Given the description of an element on the screen output the (x, y) to click on. 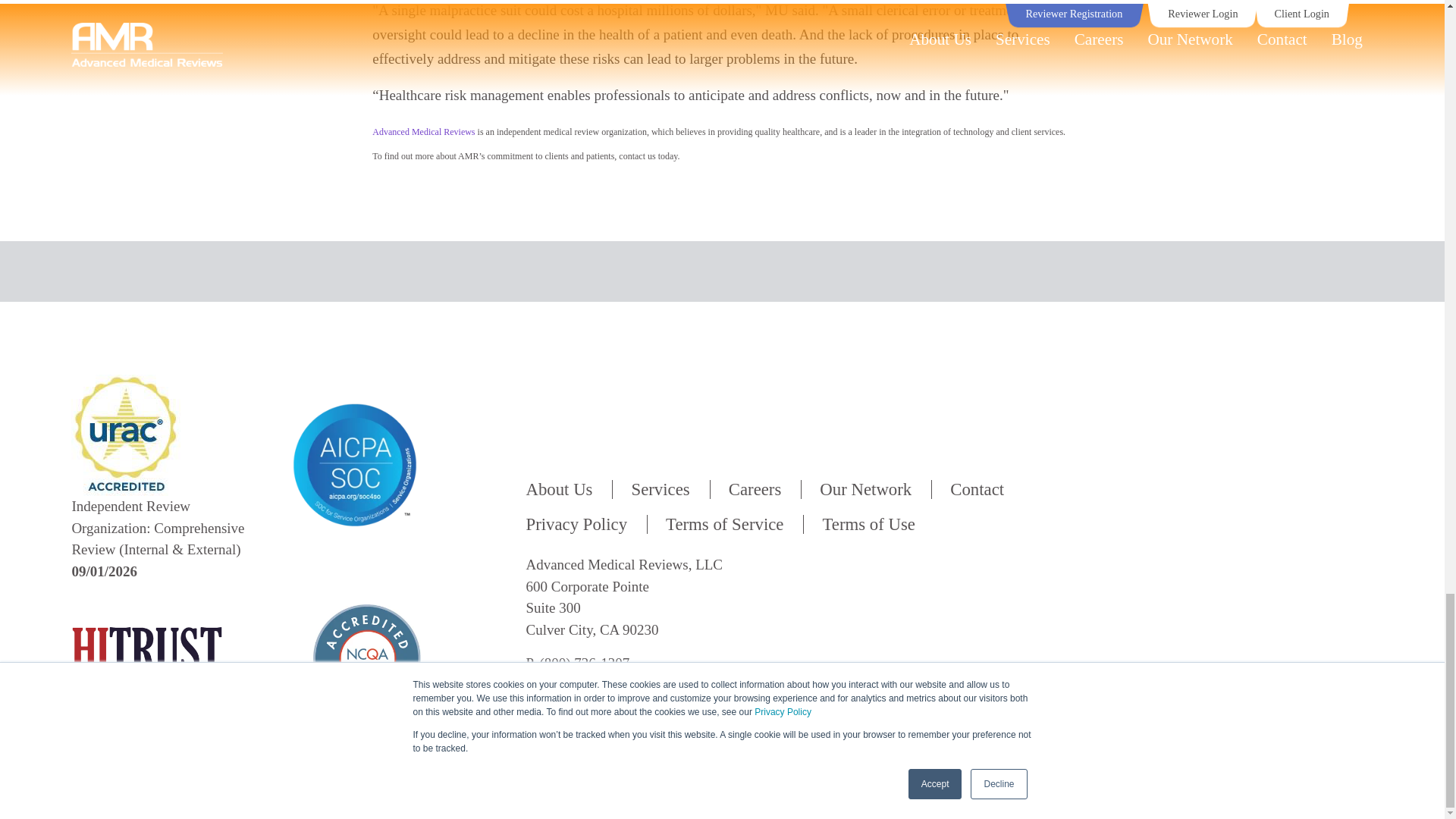
Advanced Medical Reviews (423, 131)
AMR Twitter (1280, 720)
Our Network (865, 488)
About Us (568, 488)
Contact (977, 488)
Privacy Policy (585, 524)
AMR Facebook (1313, 720)
Careers (756, 488)
Advanced Medical Reviews, LLC (146, 658)
Services (660, 488)
AMR Linkedin (1344, 720)
